Given the description of an element on the screen output the (x, y) to click on. 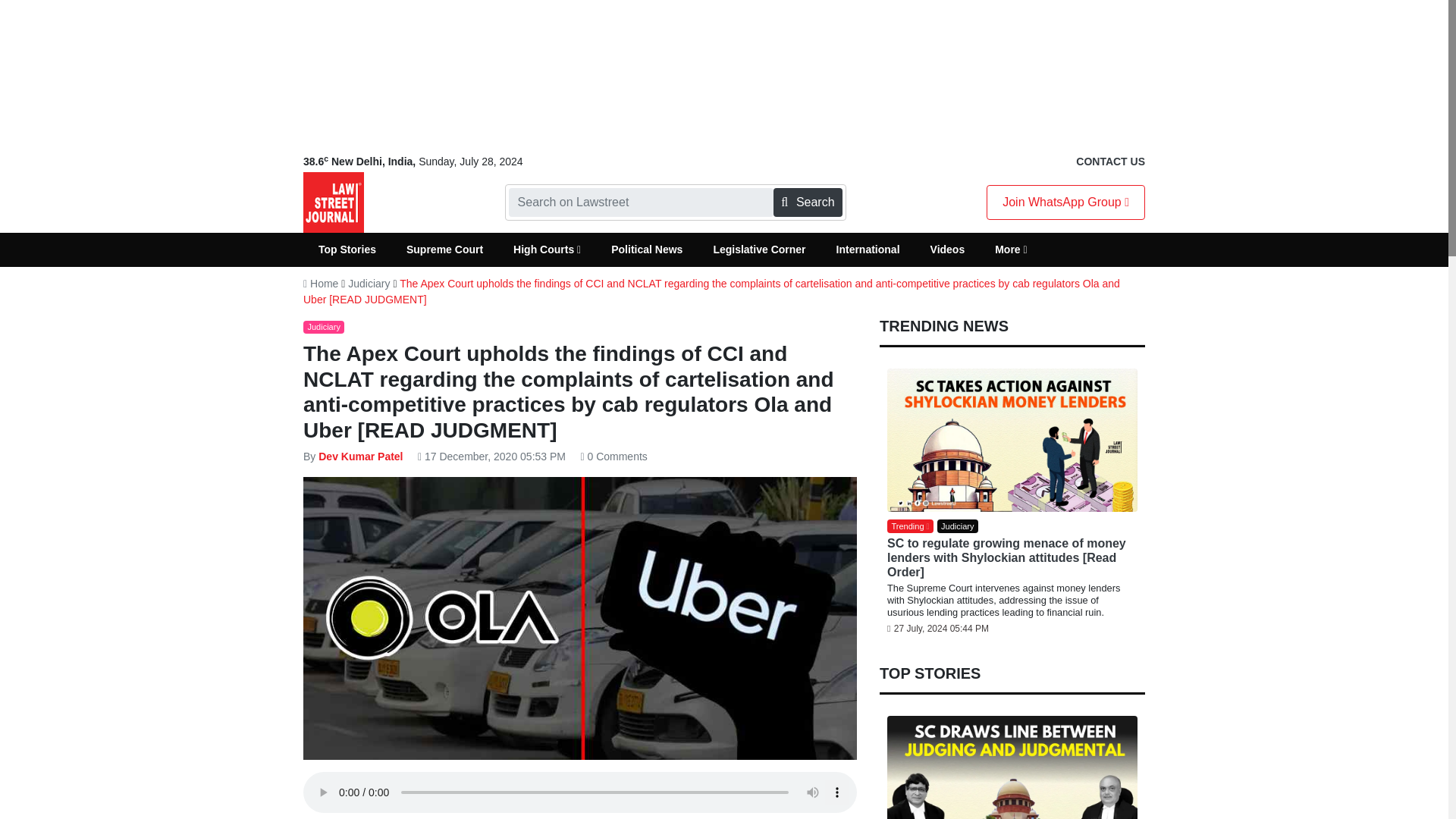
Search (807, 202)
Supreme Court (444, 249)
Legislative Corner (759, 249)
Join WhatsApp Group (1065, 202)
LawStreet Journal (333, 201)
More (1010, 249)
Videos (947, 249)
International (868, 249)
High Courts (546, 249)
Top Stories (346, 249)
CONTACT US (1109, 161)
Political News (646, 249)
